Given the description of an element on the screen output the (x, y) to click on. 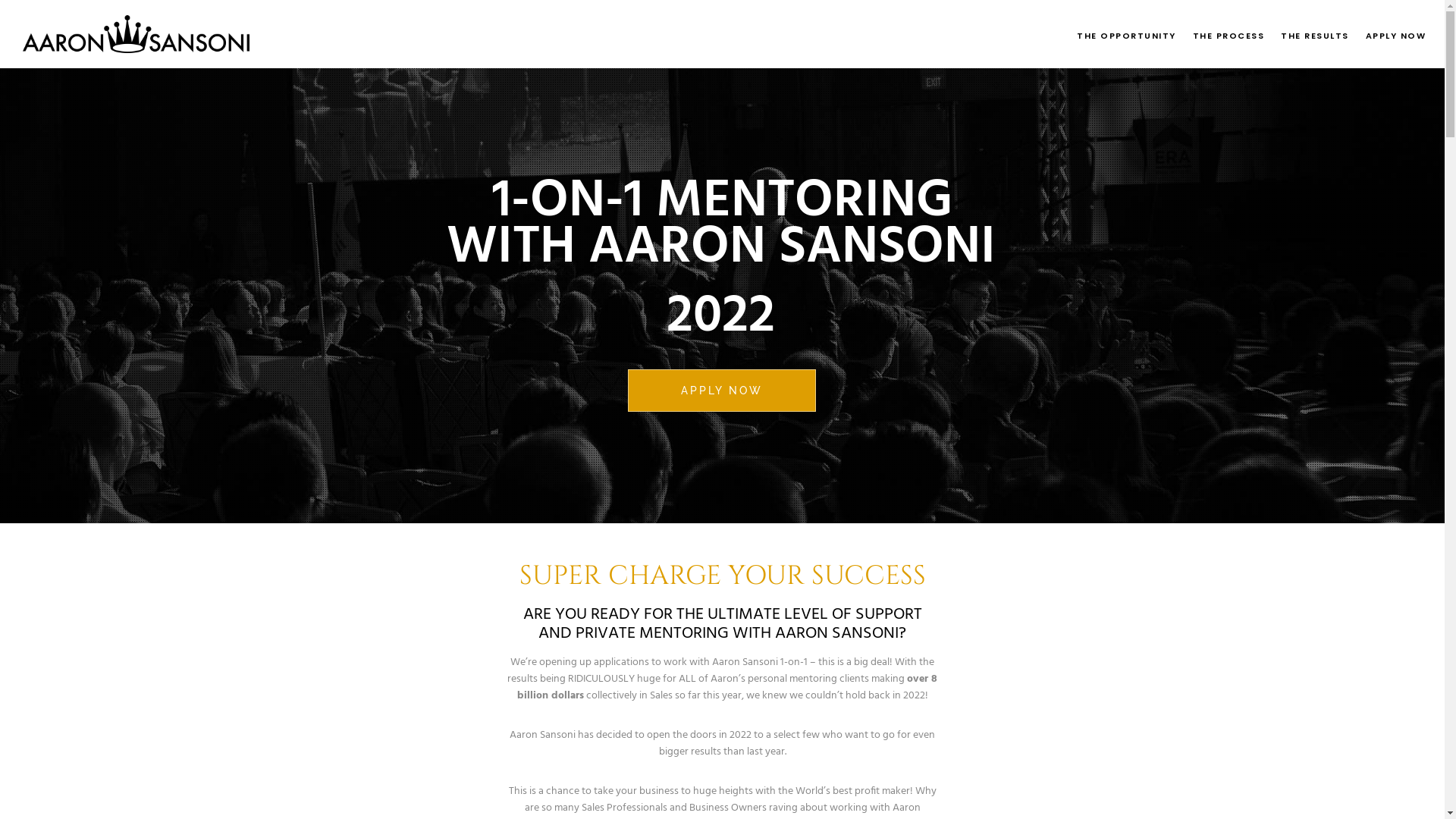
THE PROCESS Element type: text (1219, 34)
APPLY NOW Element type: text (721, 390)
THE RESULTS Element type: text (1306, 34)
APPLY NOW Element type: text (1386, 34)
THE OPPORTUNITY Element type: text (1118, 34)
